Given the description of an element on the screen output the (x, y) to click on. 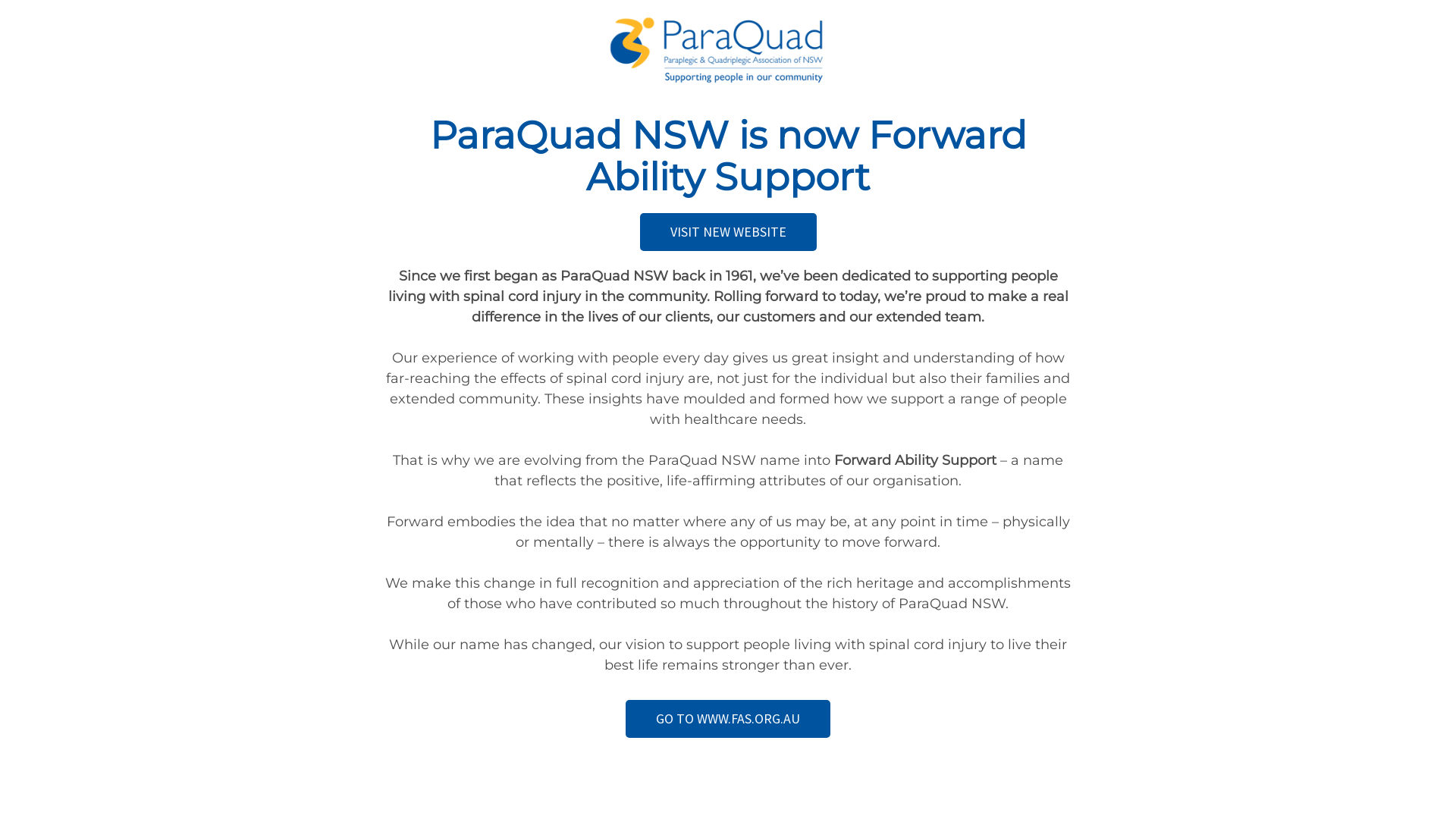
VISIT NEW WEBSITE Element type: text (728, 232)
GO TO WWW.FAS.ORG.AU Element type: text (727, 718)
